Given the description of an element on the screen output the (x, y) to click on. 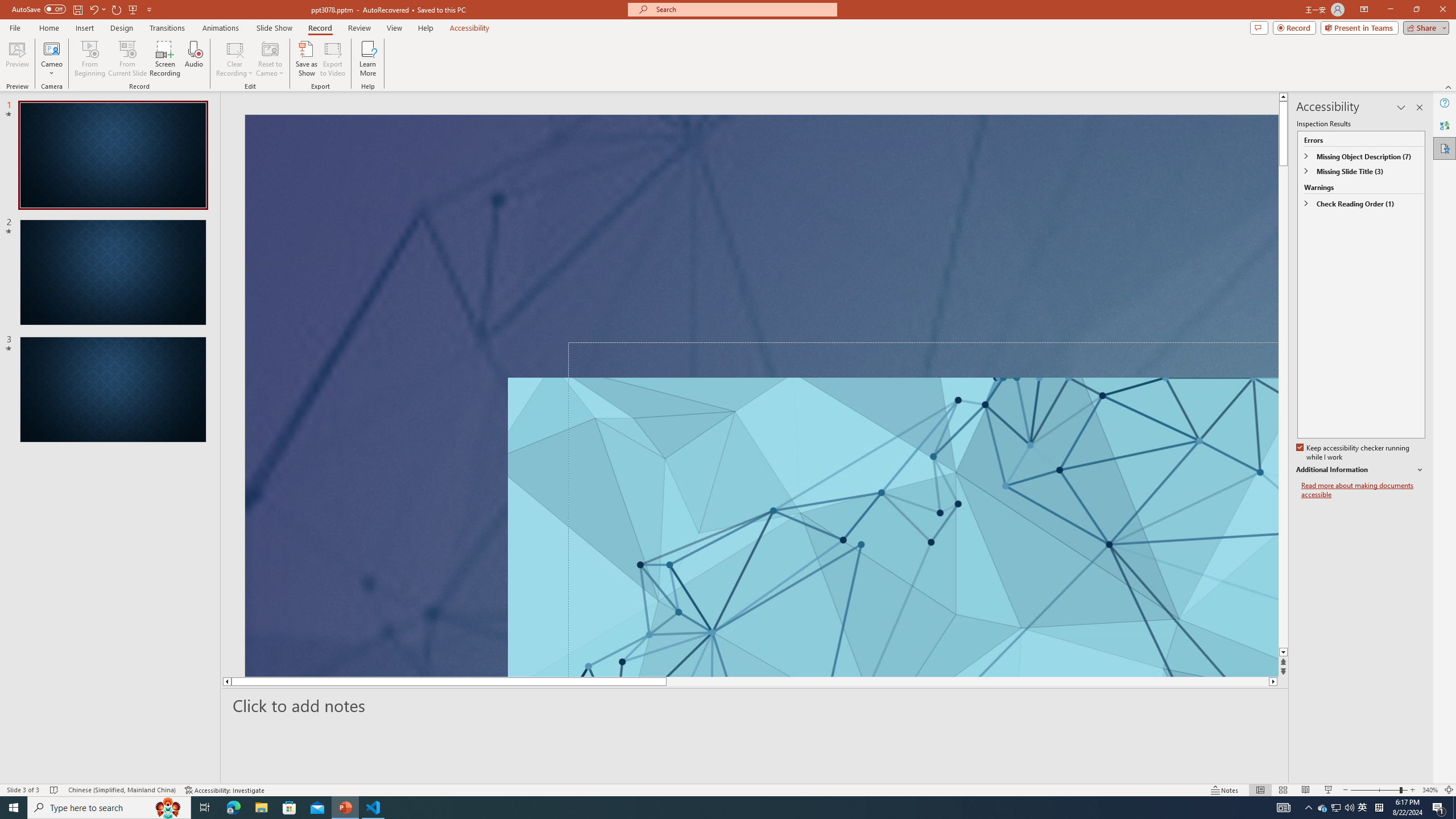
Zoom 340% (1430, 790)
An abstract genetic concept (761, 395)
